Given the description of an element on the screen output the (x, y) to click on. 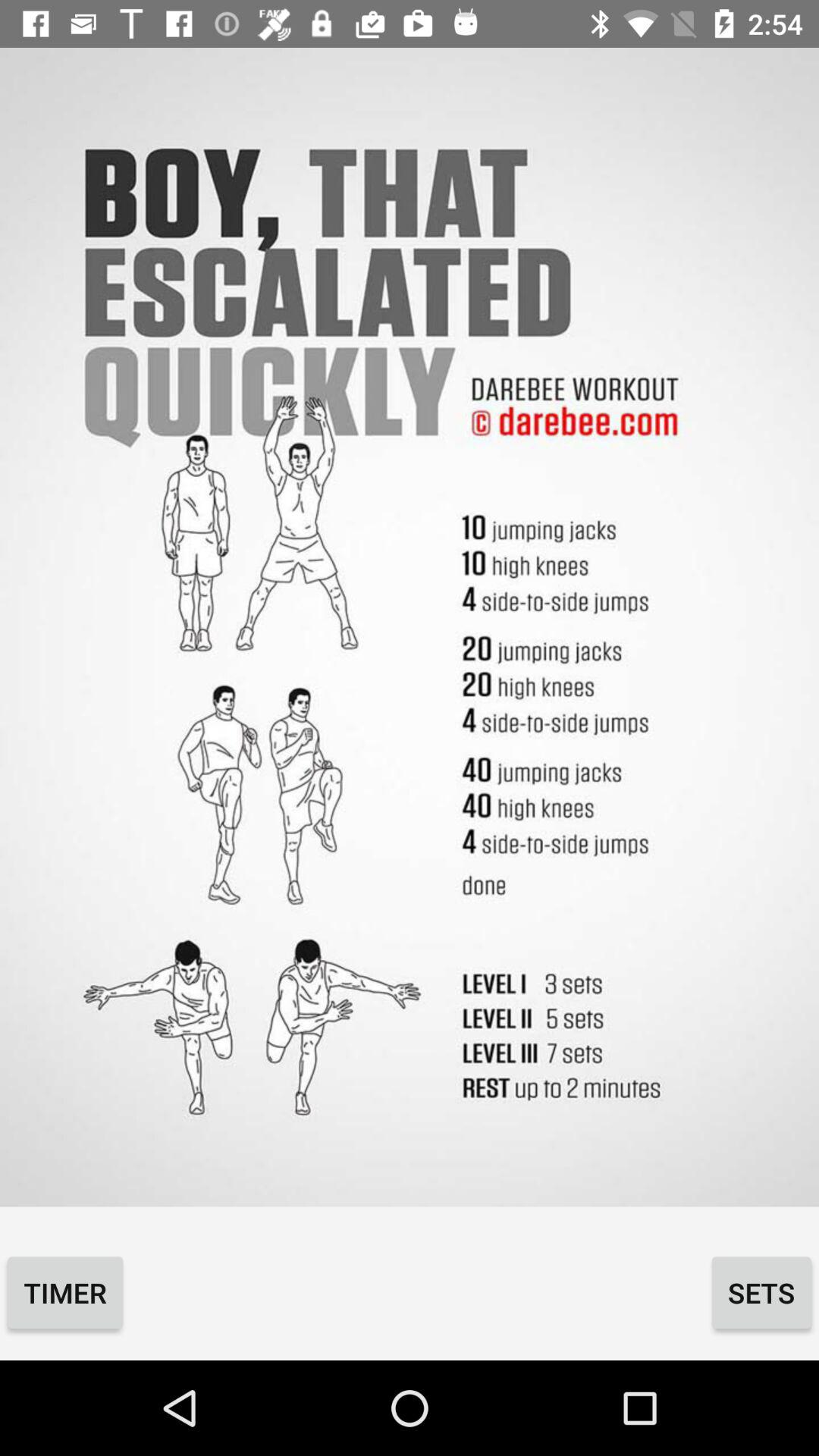
click icon to the left of the sets icon (65, 1292)
